Given the description of an element on the screen output the (x, y) to click on. 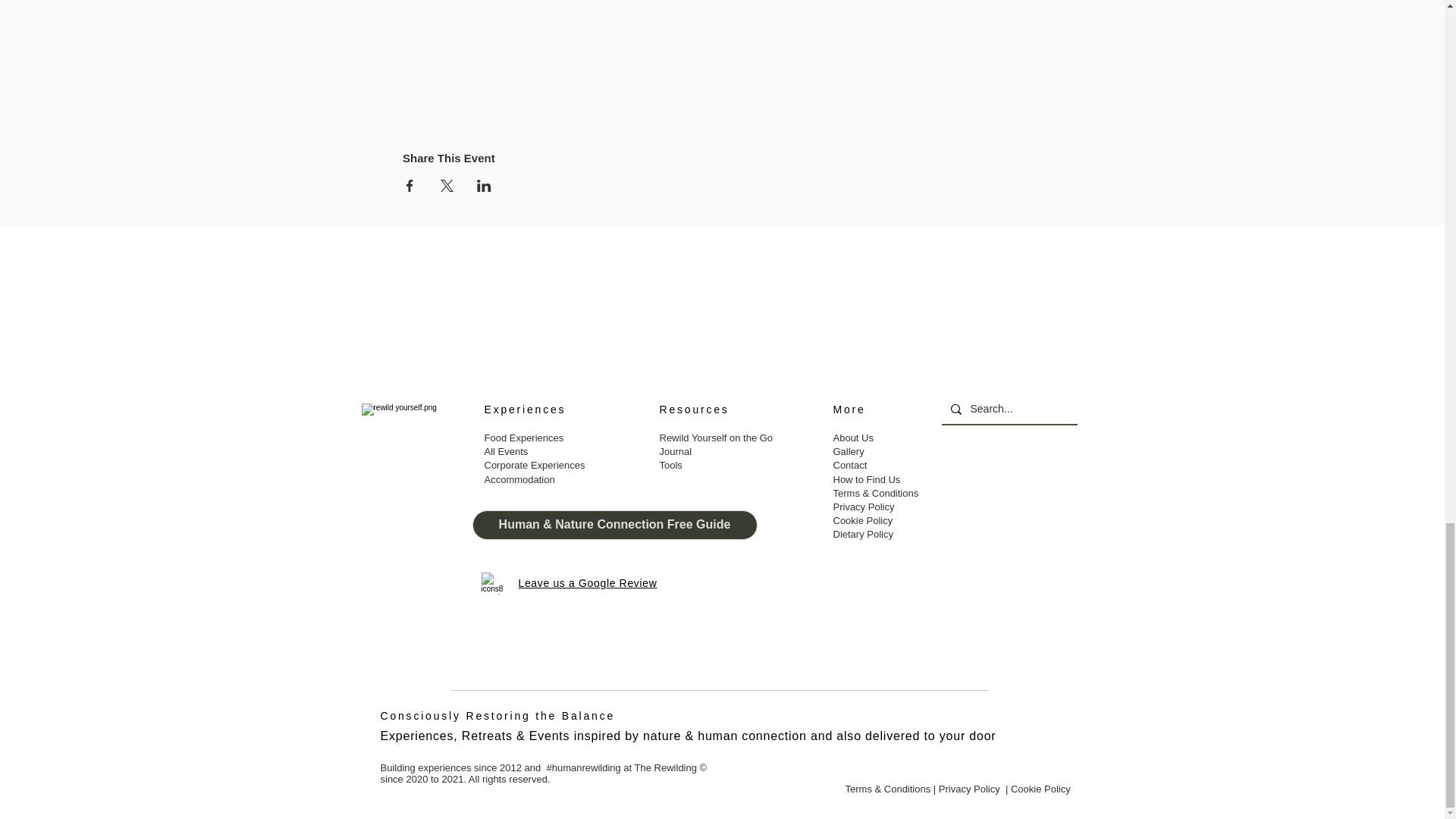
Food Experiences (523, 437)
Tools  (672, 464)
Contact  (850, 464)
Corporate Experiences (534, 464)
Gallery (847, 451)
About Us  (854, 437)
Rewild Yourself on the Go  (717, 437)
Journal  (676, 451)
All Events  (506, 451)
How to Find Us (865, 479)
